Given the description of an element on the screen output the (x, y) to click on. 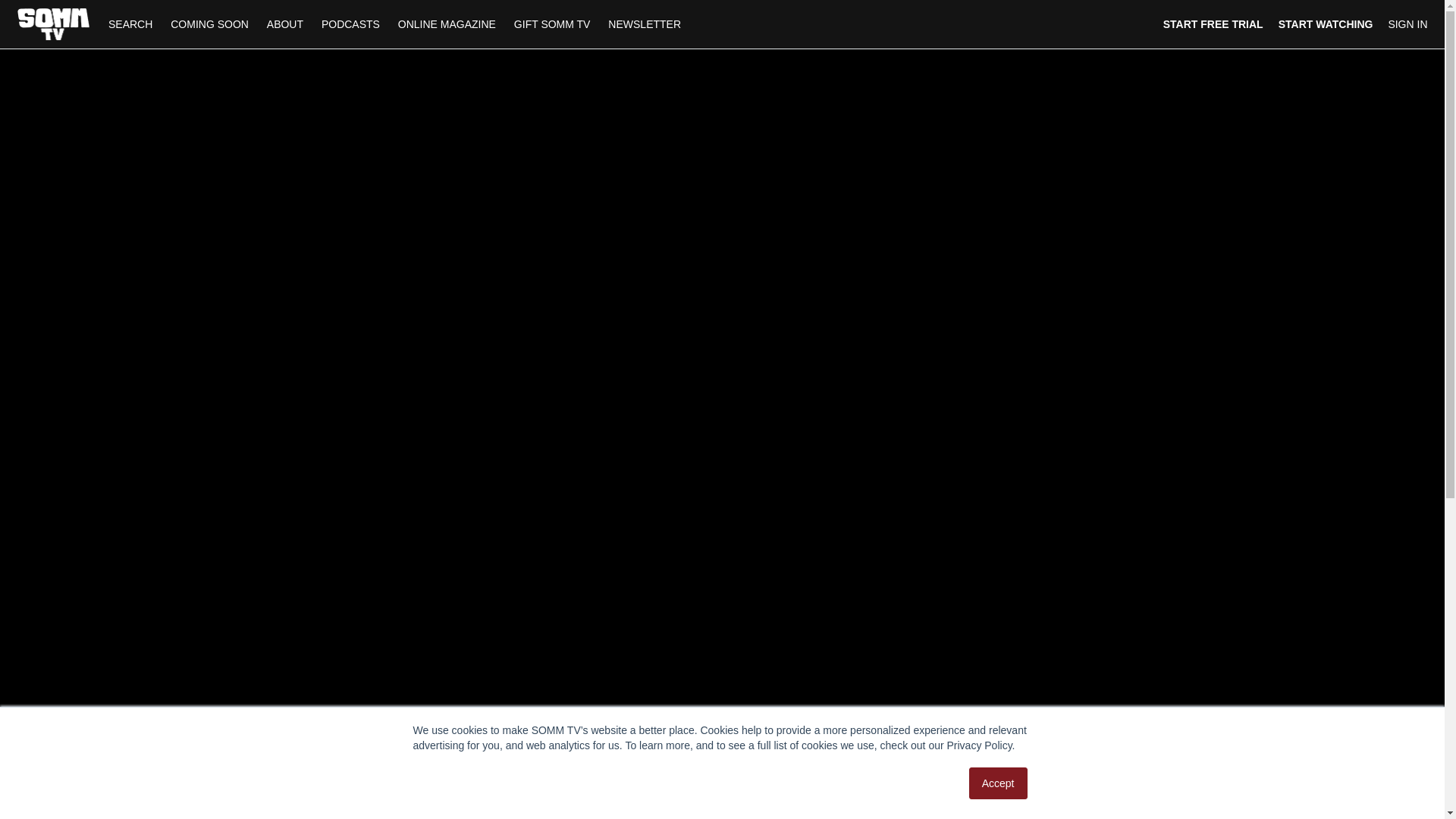
GIFT SOMM TV (552, 24)
Skip to main content (48, 7)
SEARCH (131, 24)
SIGN IN (1406, 24)
ABOUT (285, 24)
Accept (998, 783)
PODCASTS (350, 24)
Facebook (945, 816)
Email (1029, 816)
COMING SOON (209, 24)
